Given the description of an element on the screen output the (x, y) to click on. 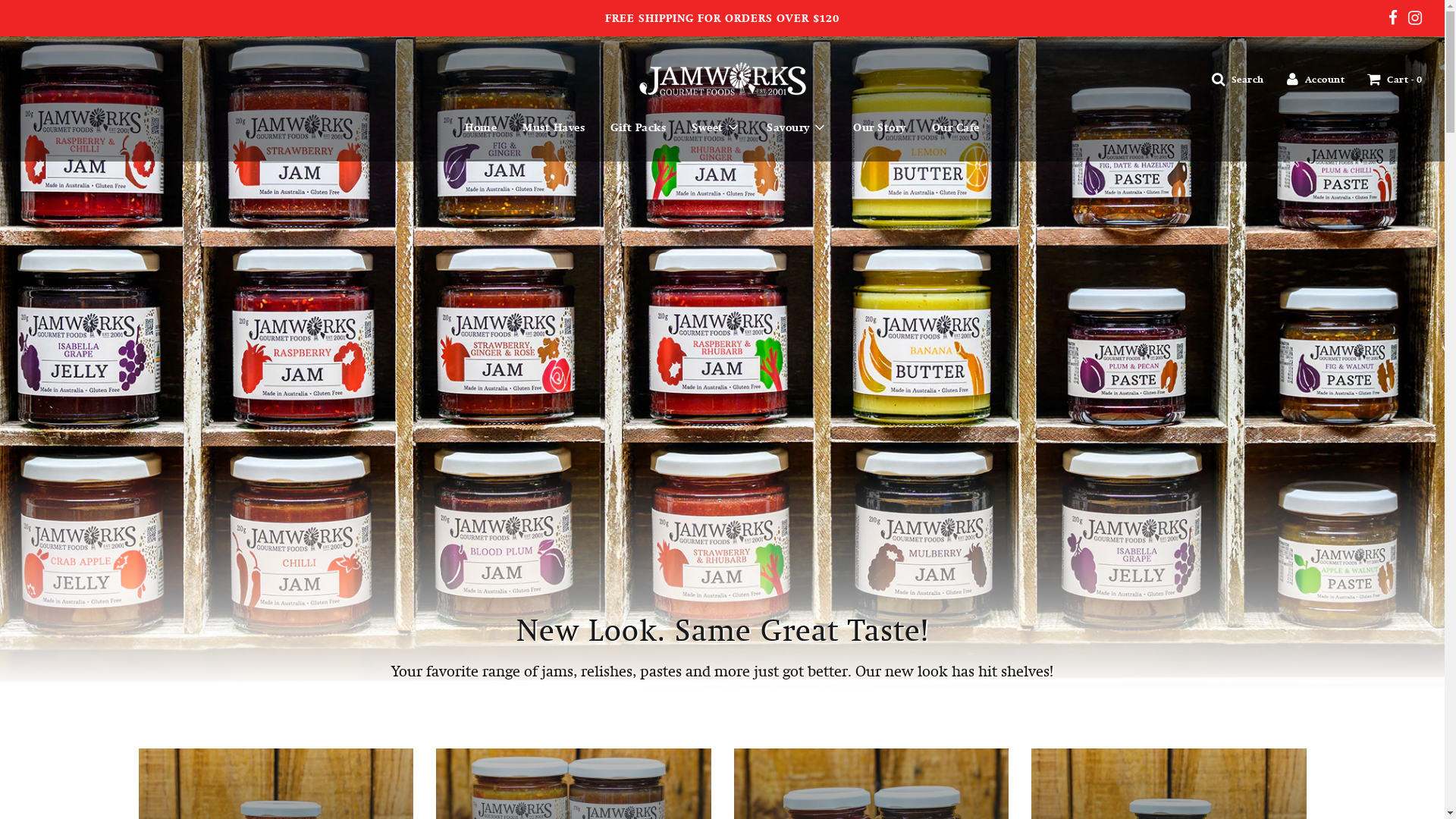
Savoury Element type: text (796, 126)
Sweet Element type: text (716, 126)
Search Element type: text (1237, 78)
Our Story Element type: text (879, 127)
Gift Packs Element type: text (638, 127)
Cart - 0 Element type: text (1394, 78)
Our Cafe Element type: text (955, 127)
Account Element type: text (1315, 78)
Must Haves Element type: text (553, 127)
Home Element type: text (480, 127)
